Given the description of an element on the screen output the (x, y) to click on. 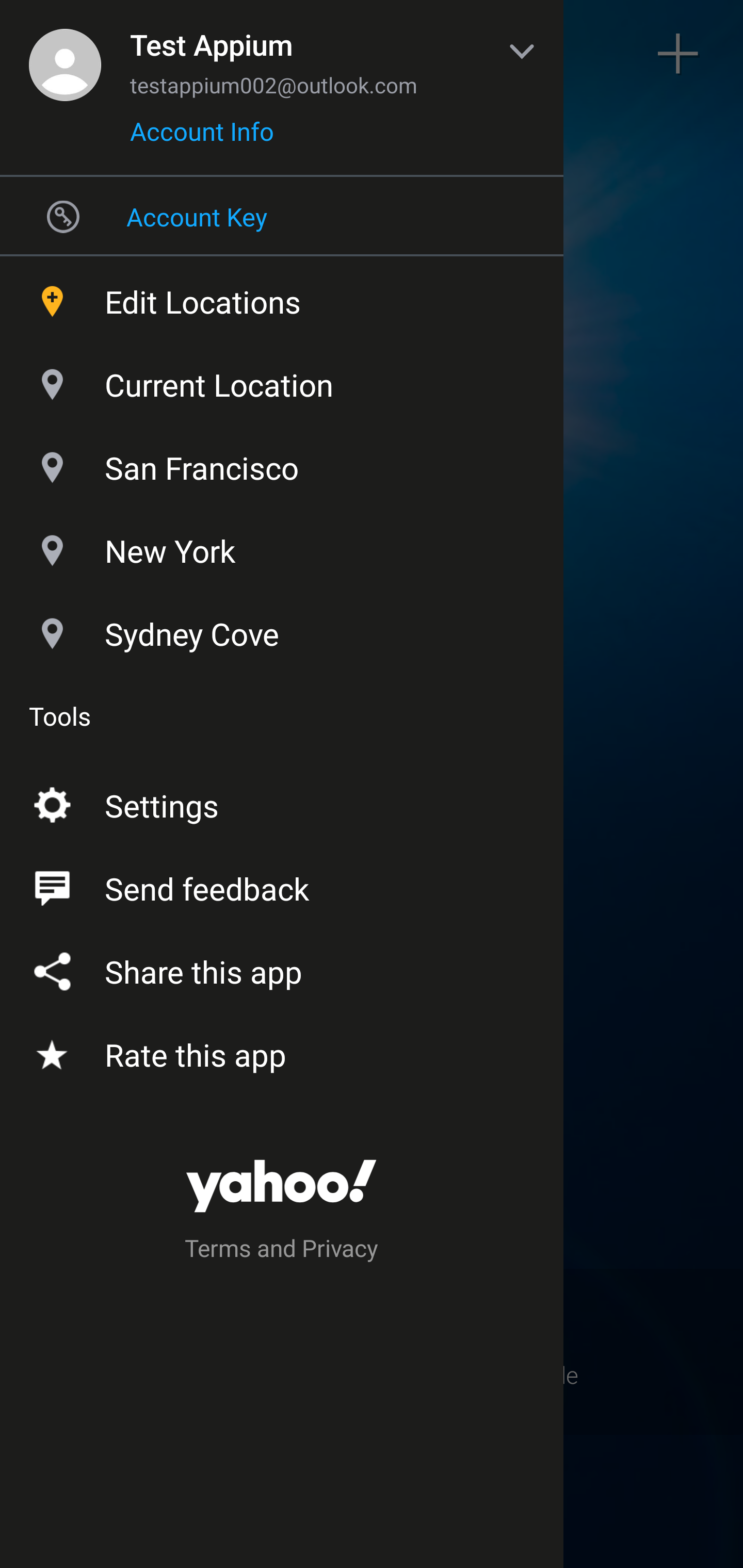
Sidebar (64, 54)
Account Info (202, 137)
Account Key (281, 216)
Edit Locations (281, 296)
Current Location (281, 379)
San Francisco (281, 462)
New York (281, 546)
Sydney Cove (281, 629)
Settings (281, 801)
Send feedback (281, 884)
Share this app (281, 967)
Terms and Privacy Terms and privacy button (281, 1251)
